Given the description of an element on the screen output the (x, y) to click on. 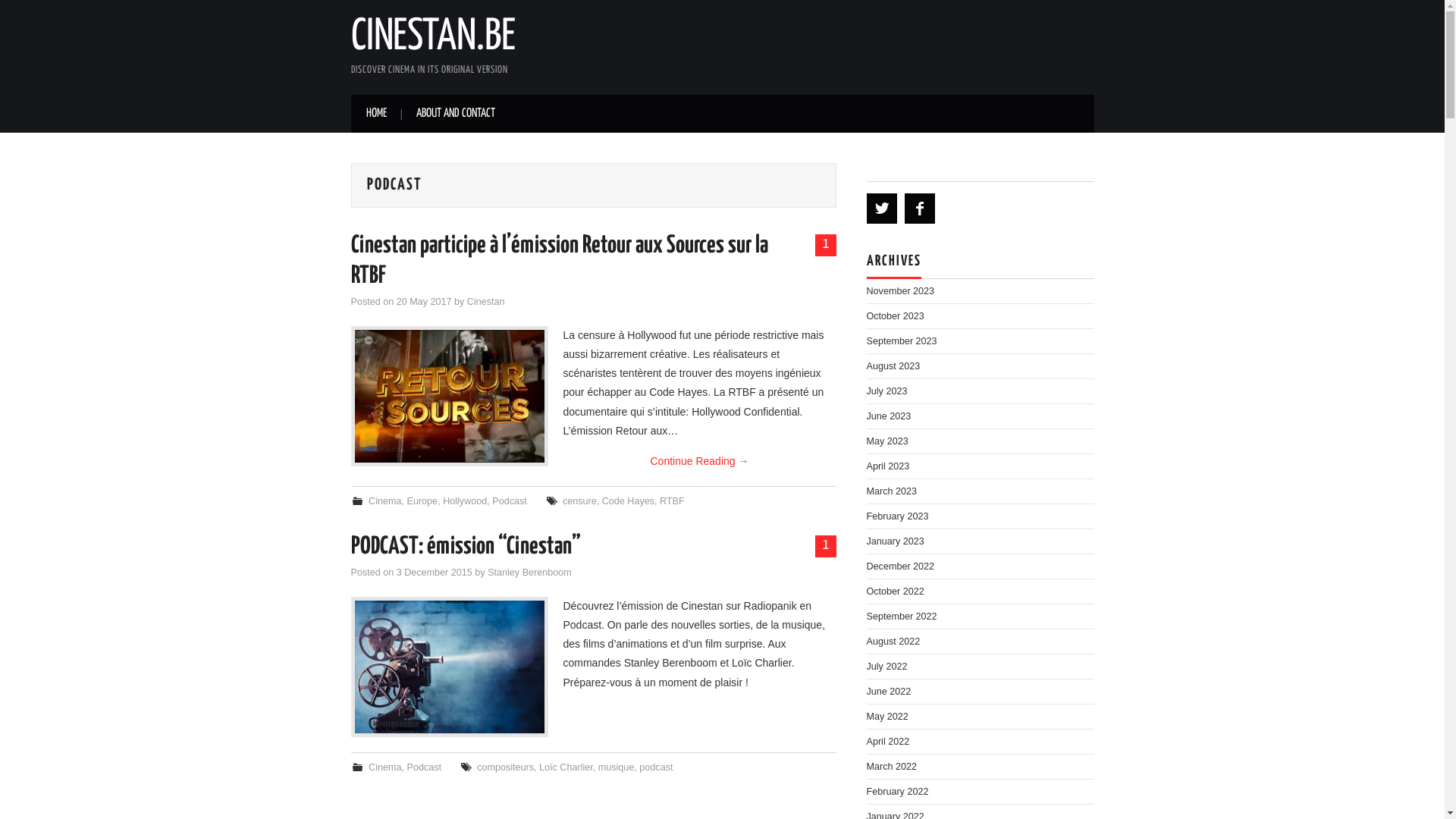
Cinema Element type: text (384, 500)
Stanley Berenboom Element type: text (529, 572)
Podcast Element type: text (424, 767)
Europe Element type: text (422, 500)
April 2022 Element type: text (887, 741)
Cinema Element type: text (384, 767)
August 2023 Element type: text (892, 365)
September 2023 Element type: text (901, 340)
censure Element type: text (579, 500)
October 2022 Element type: text (894, 591)
November 2023 Element type: text (900, 290)
May 2022 Element type: text (886, 716)
1 Element type: text (824, 245)
January 2023 Element type: text (894, 541)
CINESTAN.BE Element type: text (432, 36)
Hollywood Element type: text (464, 500)
March 2022 Element type: text (891, 766)
Podcast Element type: text (509, 500)
February 2022 Element type: text (897, 791)
February 2023 Element type: text (897, 516)
ABOUT AND CONTACT Element type: text (454, 113)
Twitter Element type: hover (881, 208)
Cinestan Element type: text (486, 301)
Facebook Element type: hover (918, 208)
1 Element type: text (824, 546)
3 December 2015 Element type: text (434, 572)
April 2023 Element type: text (887, 466)
September 2022 Element type: text (901, 616)
Code Hayes Element type: text (628, 500)
June 2023 Element type: text (888, 416)
RTBF Element type: text (671, 500)
June 2022 Element type: text (888, 691)
May 2023 Element type: text (886, 441)
20 May 2017 Element type: text (423, 301)
HOME Element type: text (375, 113)
December 2022 Element type: text (900, 566)
compositeurs Element type: text (504, 767)
October 2023 Element type: text (894, 315)
July 2023 Element type: text (886, 390)
podcast Element type: text (655, 767)
musique Element type: text (616, 767)
August 2022 Element type: text (892, 641)
July 2022 Element type: text (886, 666)
March 2023 Element type: text (891, 491)
